Given the description of an element on the screen output the (x, y) to click on. 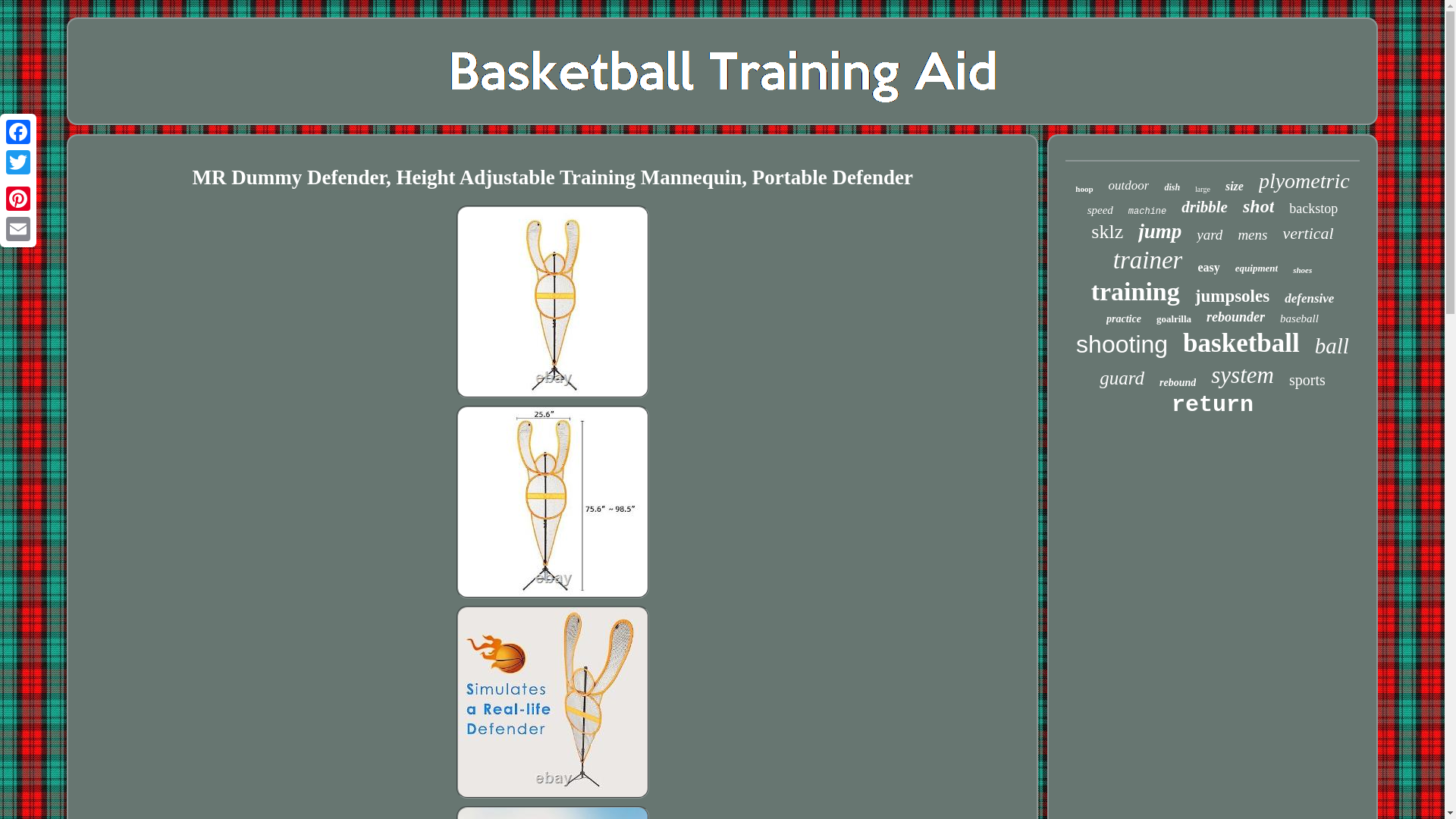
speed (1100, 210)
size (1234, 186)
training (1134, 291)
dribble (1203, 207)
goalrilla (1173, 318)
machine (1147, 211)
sklz (1106, 231)
shot (1258, 206)
plyometric (1304, 180)
hoop (1084, 188)
